Given the description of an element on the screen output the (x, y) to click on. 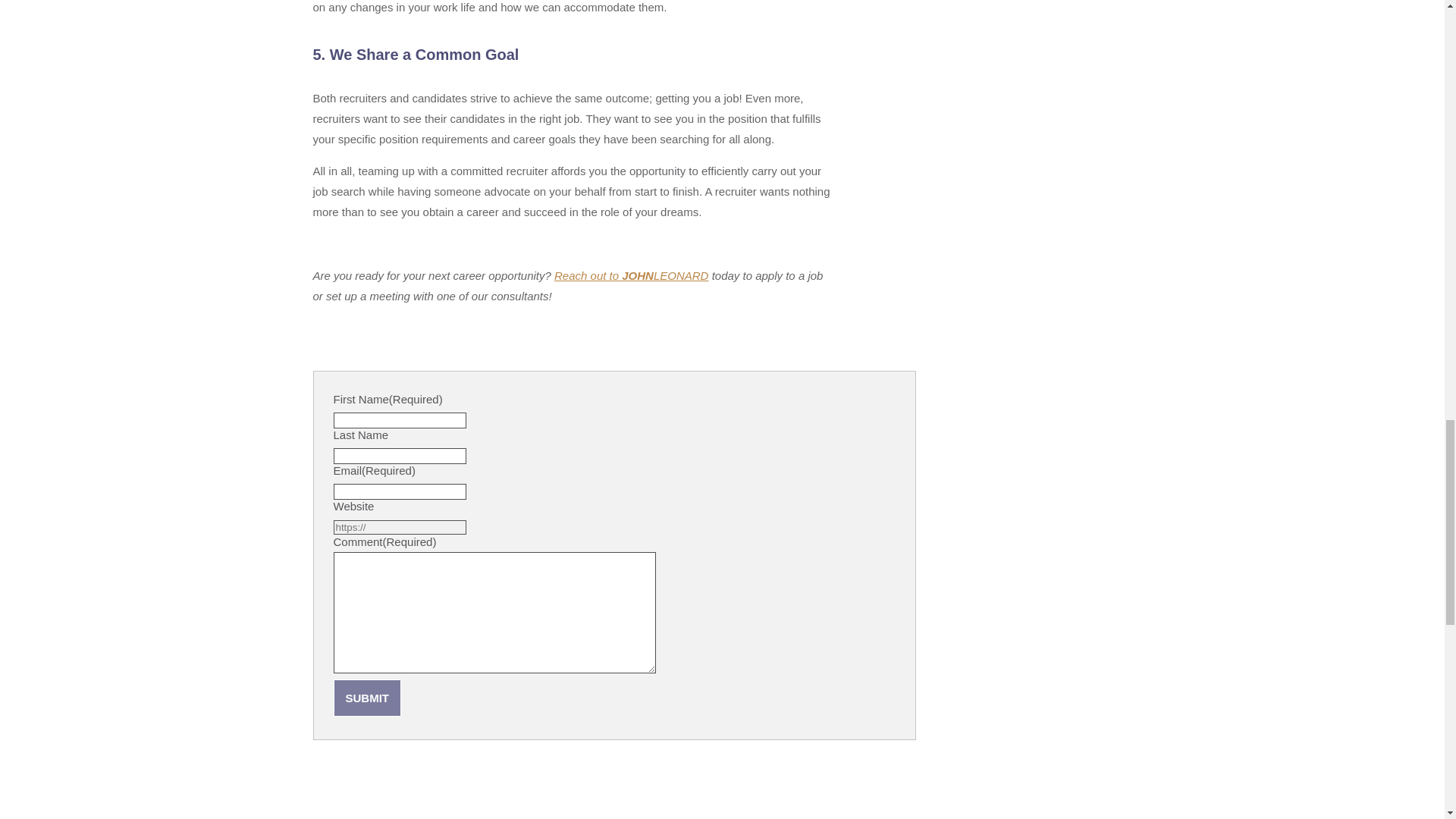
Submit (367, 697)
